Given the description of an element on the screen output the (x, y) to click on. 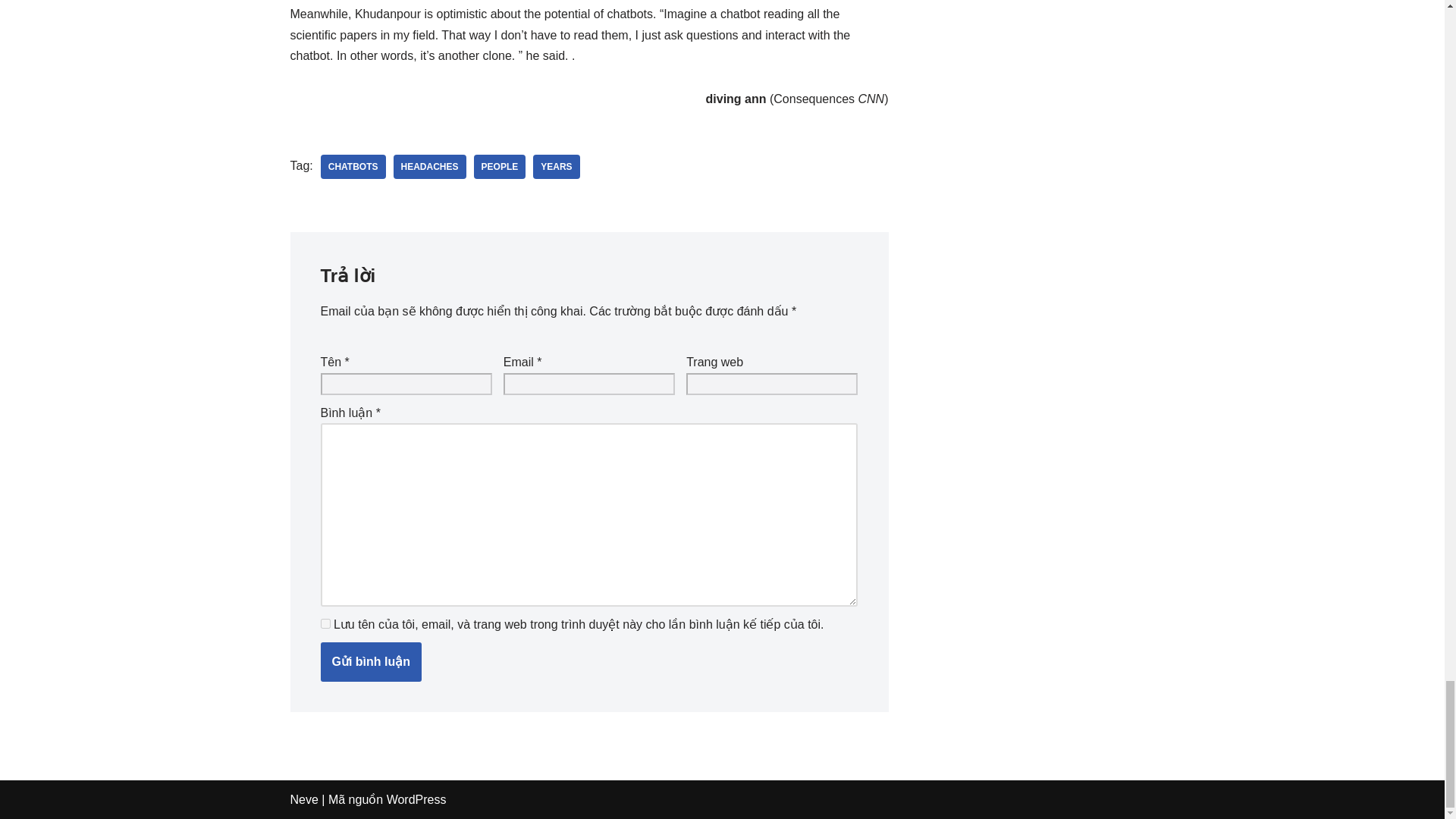
CHATBOTS (352, 166)
yes (325, 623)
chatbots (352, 166)
headaches (429, 166)
HEADACHES (429, 166)
PEOPLE (499, 166)
years (555, 166)
people (499, 166)
YEARS (555, 166)
